Given the description of an element on the screen output the (x, y) to click on. 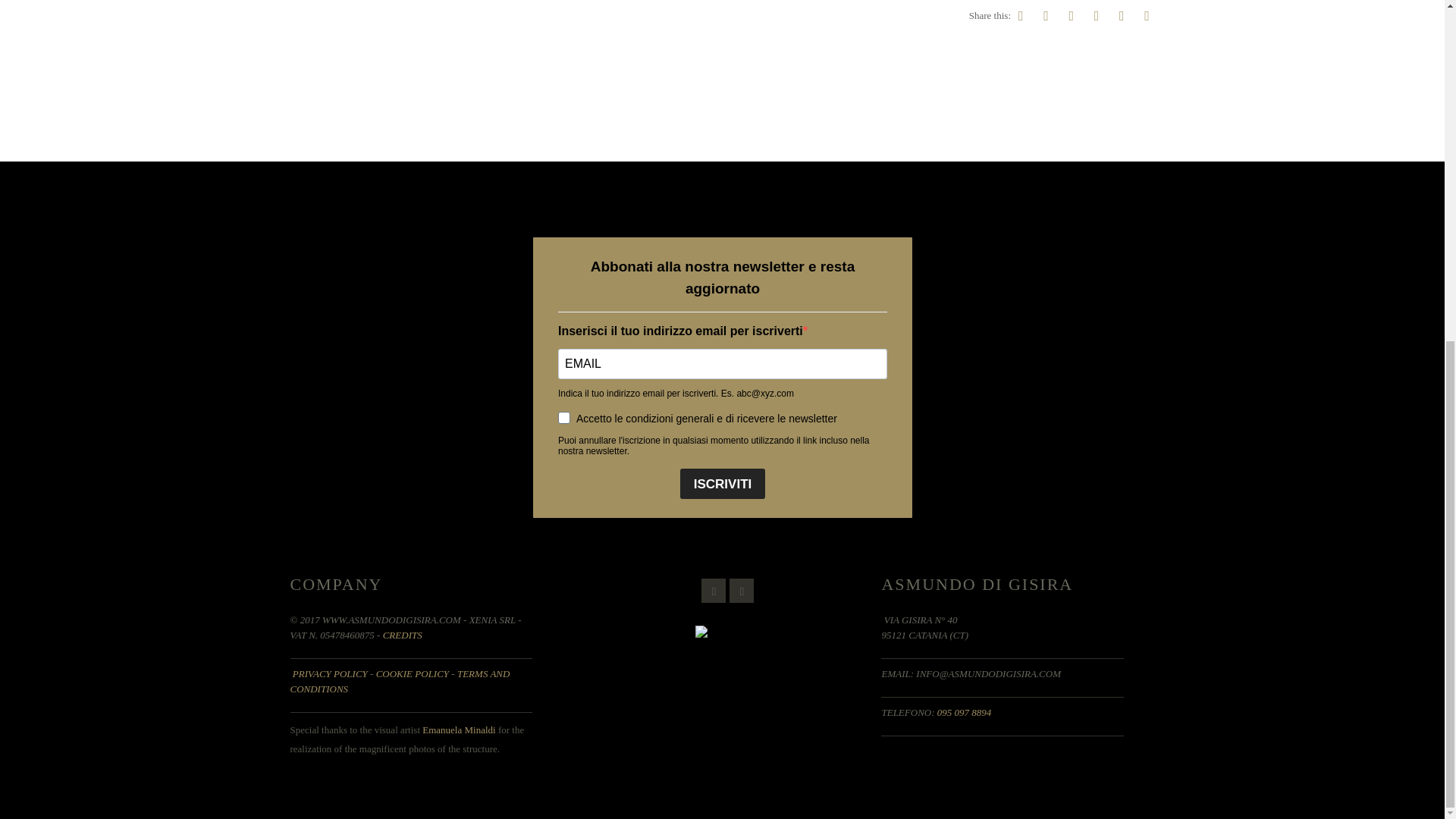
Chiama tramite Hangouts (964, 712)
